Given the description of an element on the screen output the (x, y) to click on. 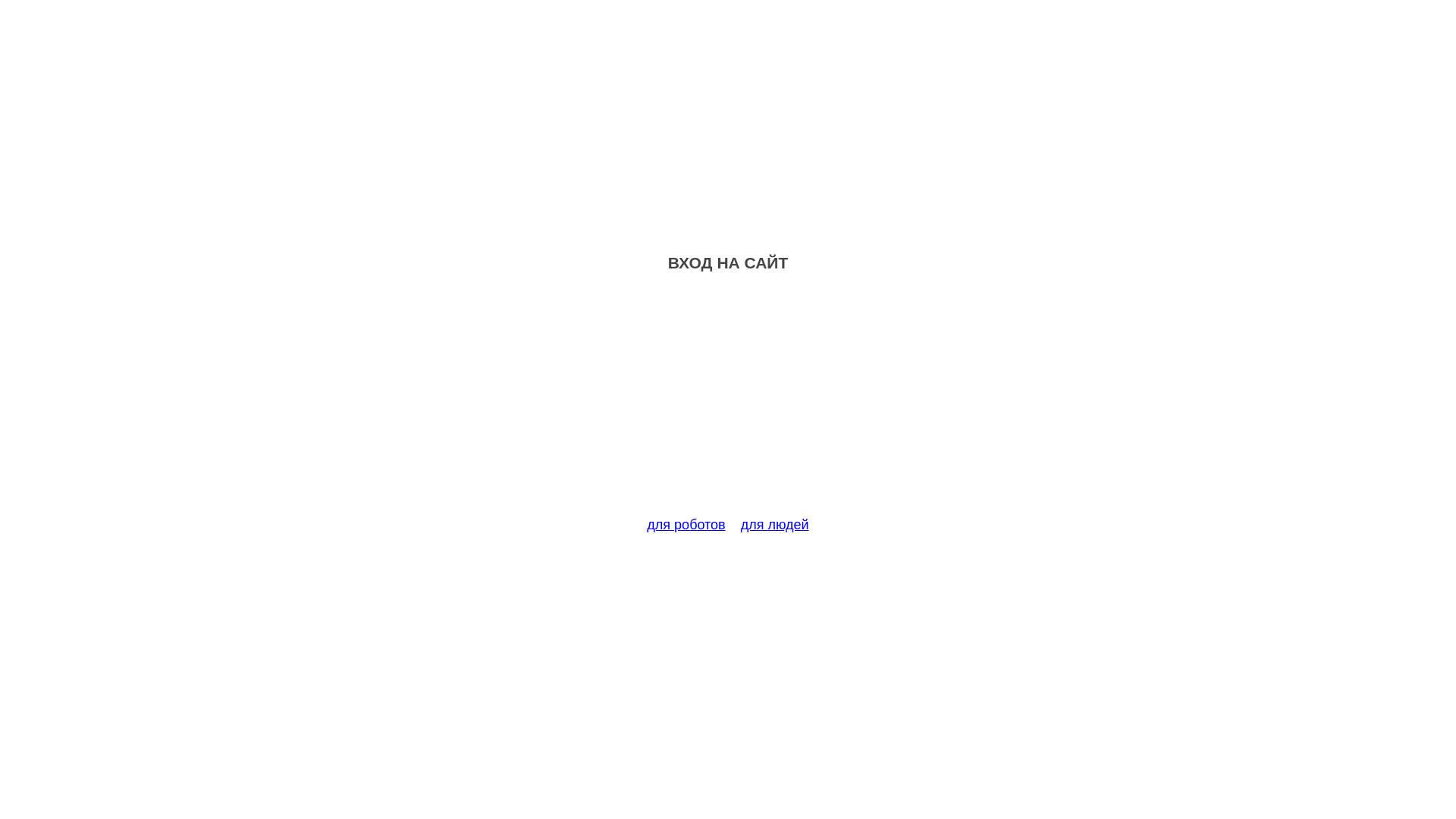
Advertisement Element type: hover (727, 403)
